Given the description of an element on the screen output the (x, y) to click on. 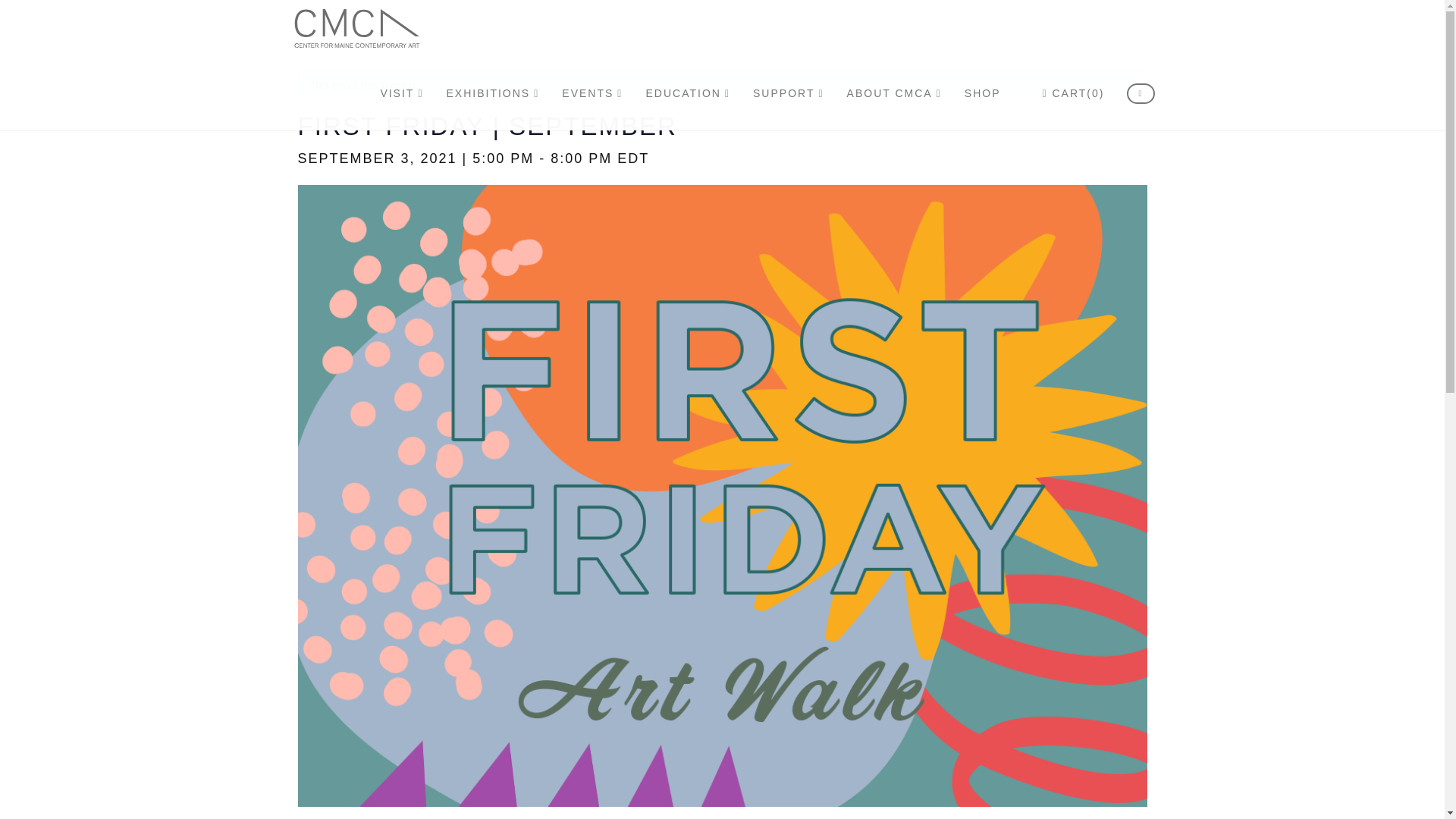
Center for Maine Contemporary Art (678, 93)
